Given the description of an element on the screen output the (x, y) to click on. 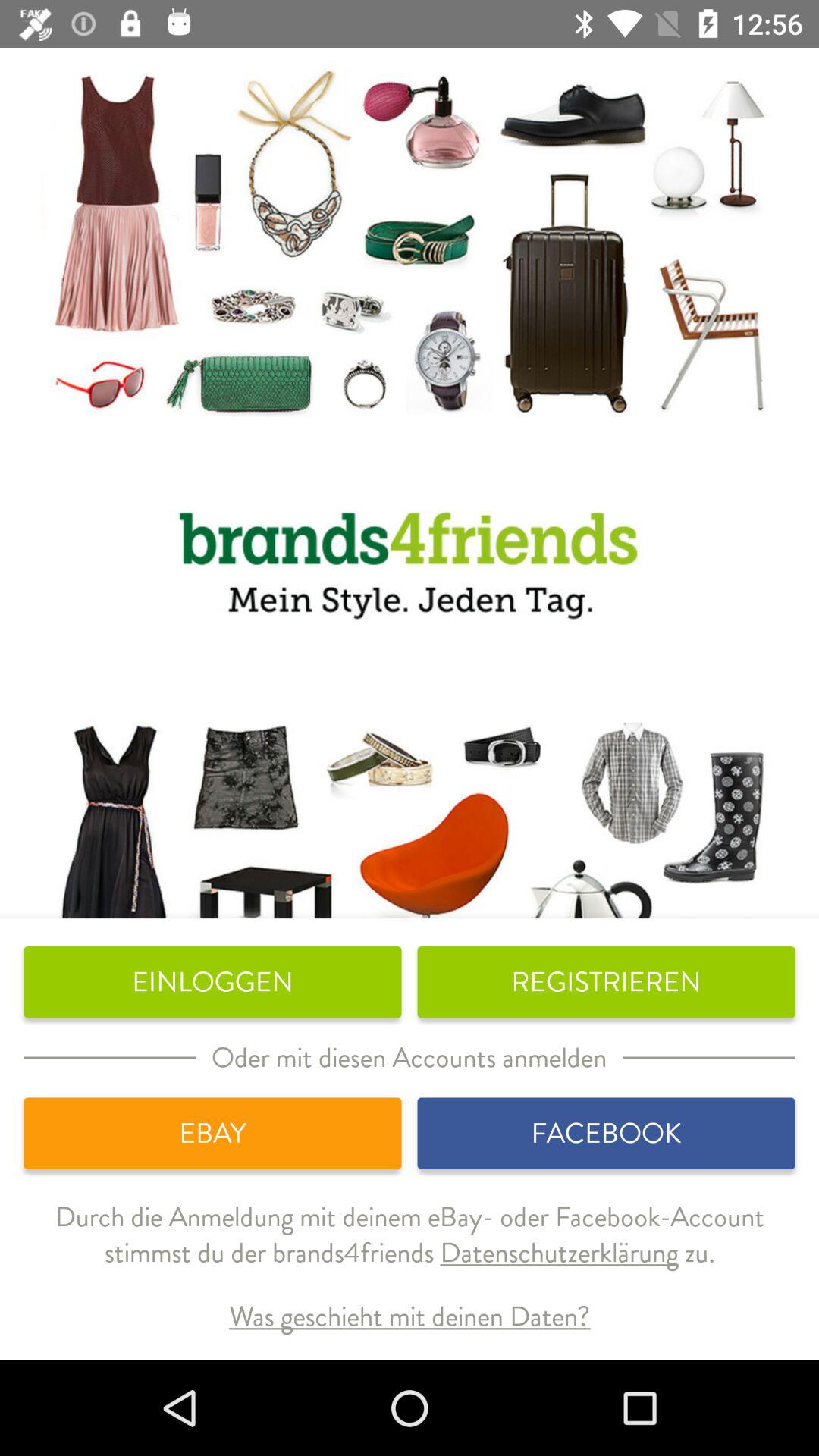
turn on icon to the left of the registrieren (212, 982)
